Given the description of an element on the screen output the (x, y) to click on. 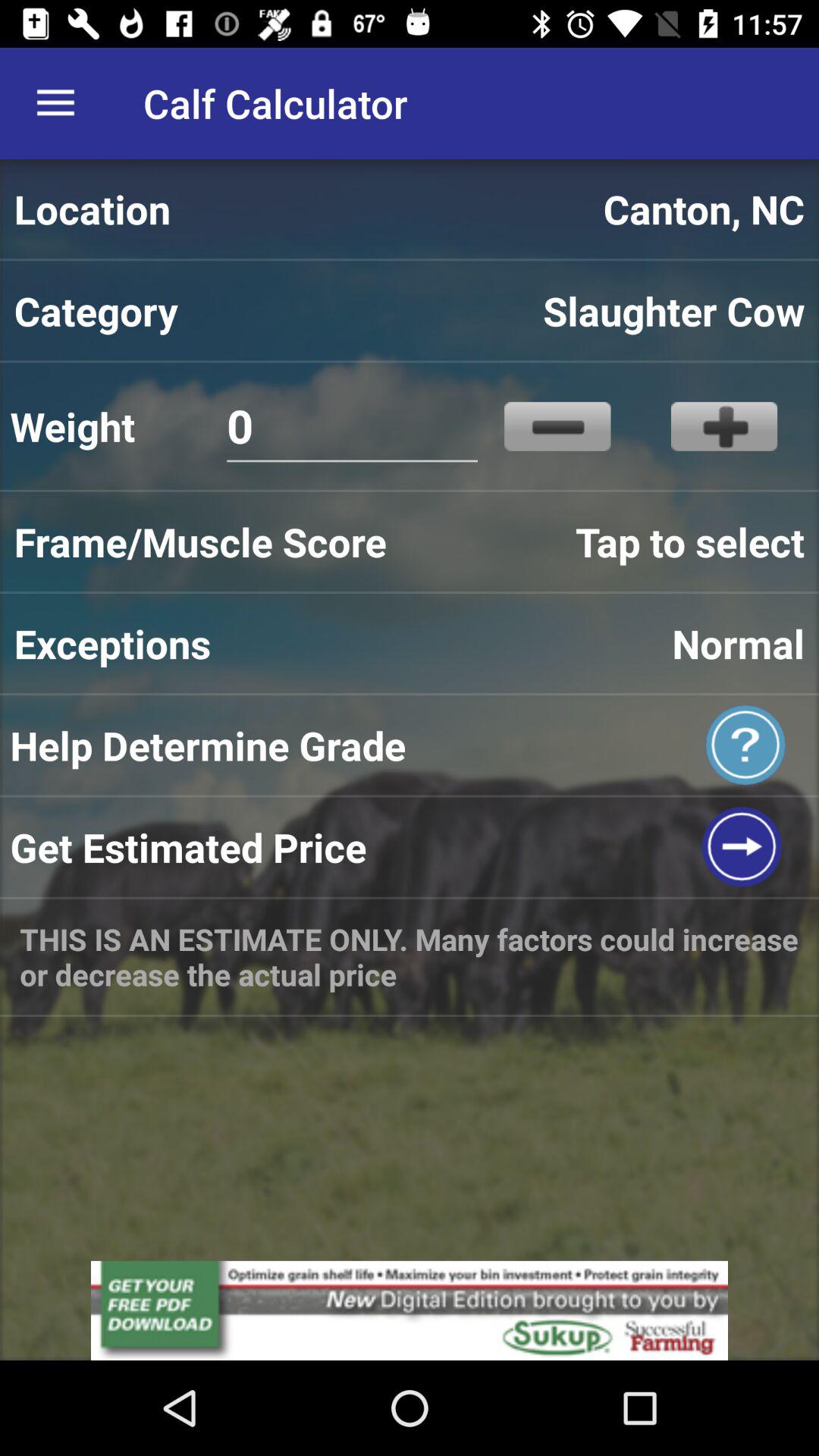
add weight (724, 425)
